Given the description of an element on the screen output the (x, y) to click on. 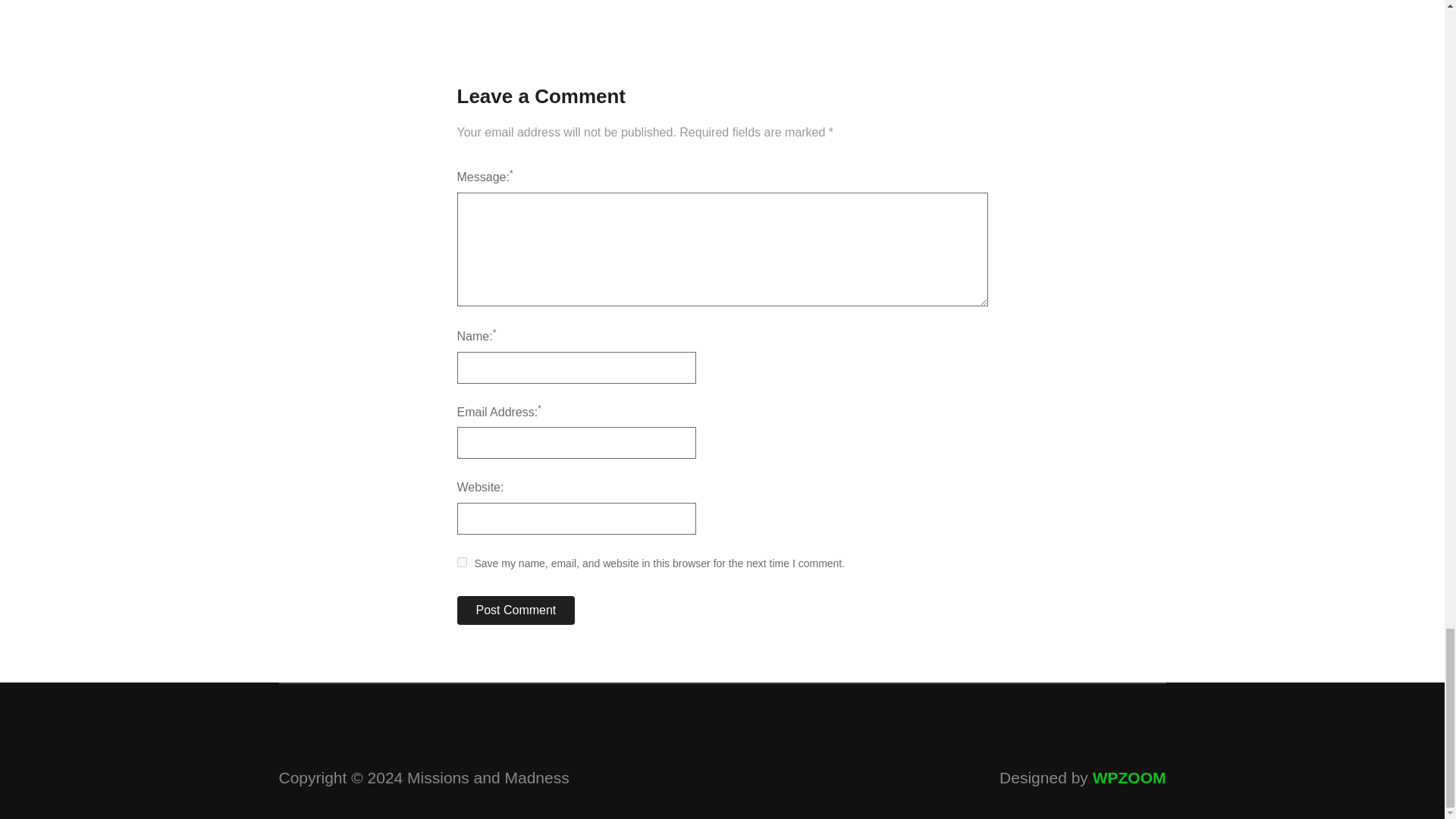
Post Comment (516, 610)
yes (461, 562)
